Given the description of an element on the screen output the (x, y) to click on. 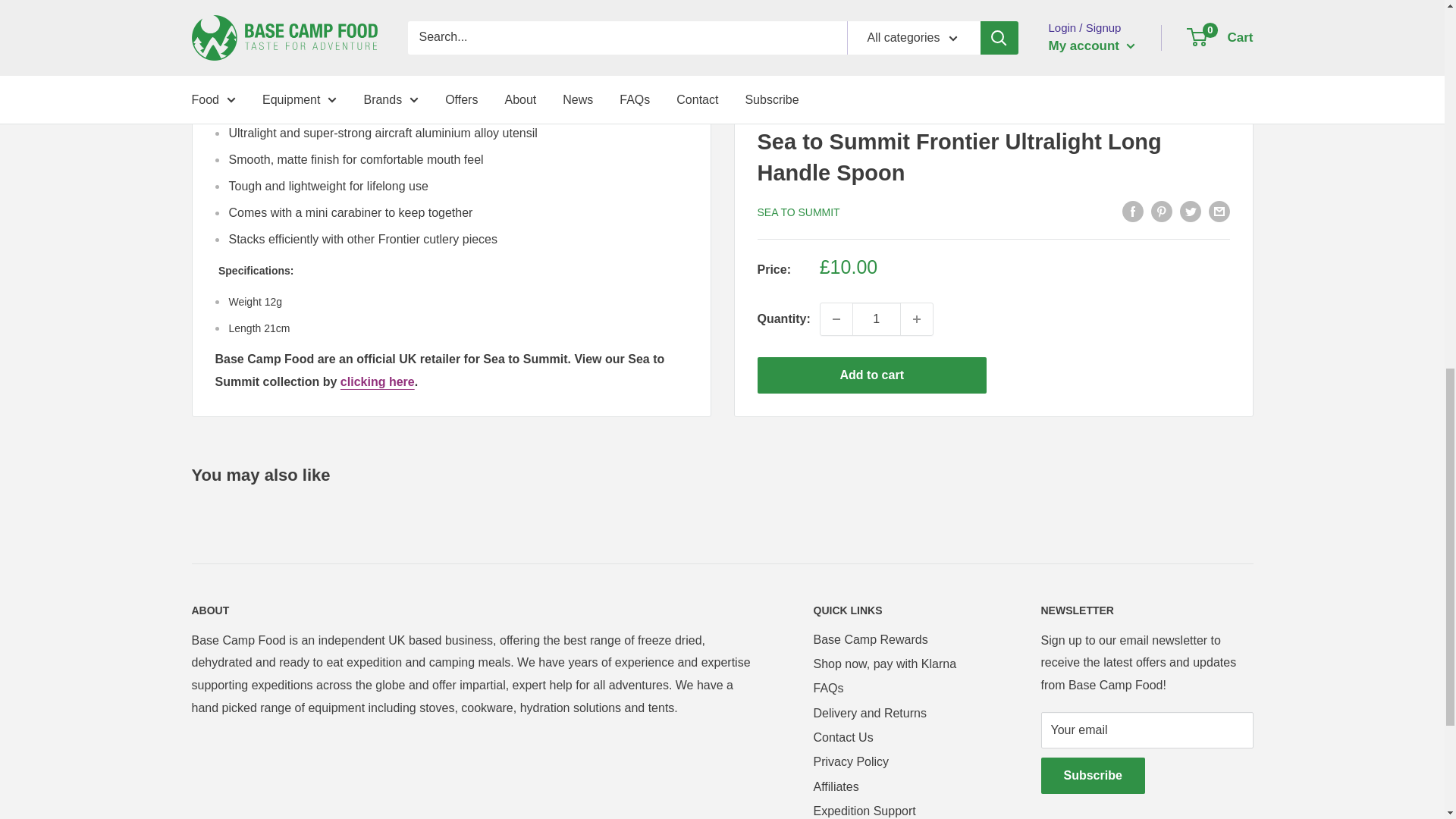
View our Sea to Summit collection by clicking here (377, 381)
